Given the description of an element on the screen output the (x, y) to click on. 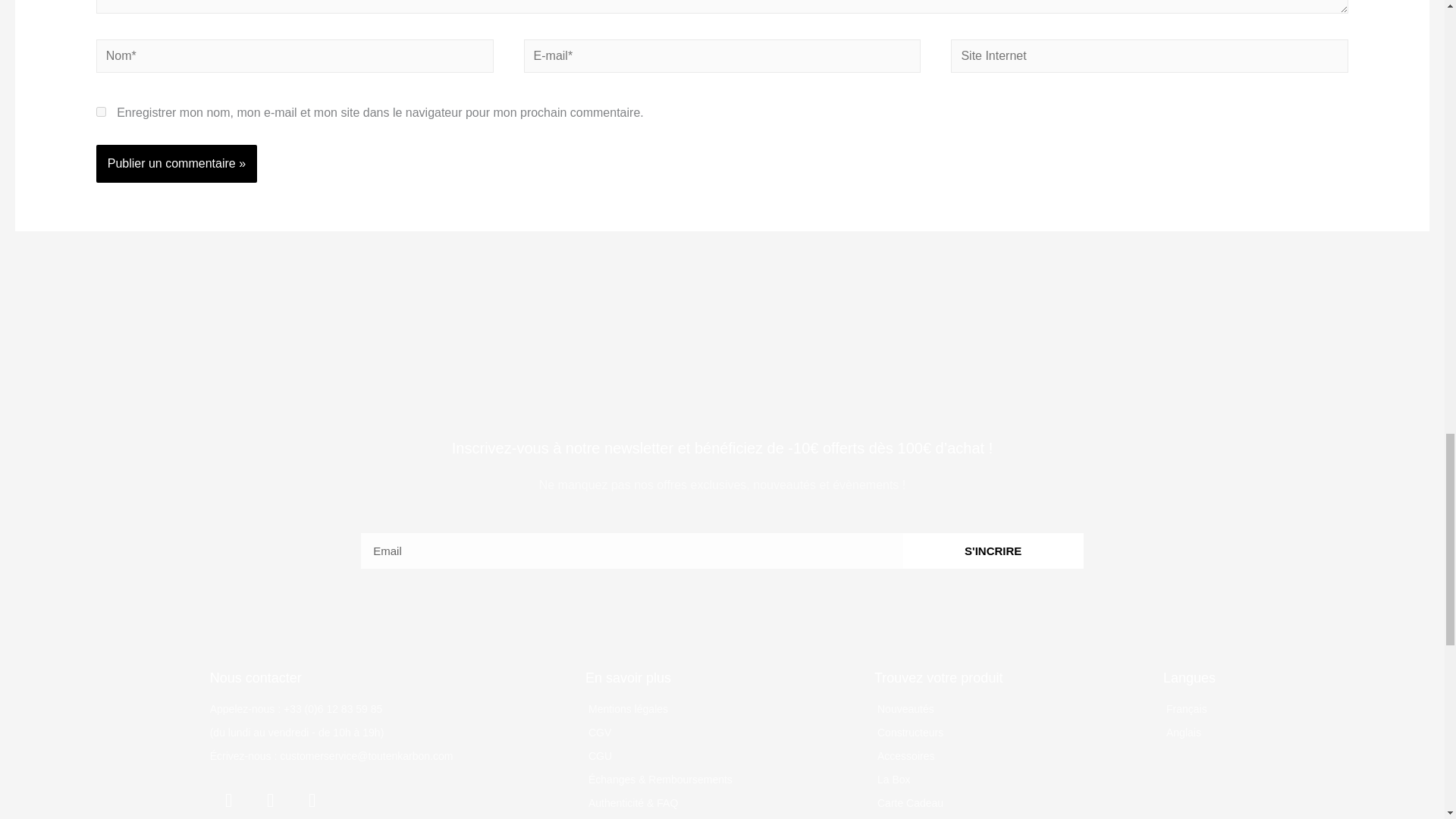
yes (101, 112)
